Given the description of an element on the screen output the (x, y) to click on. 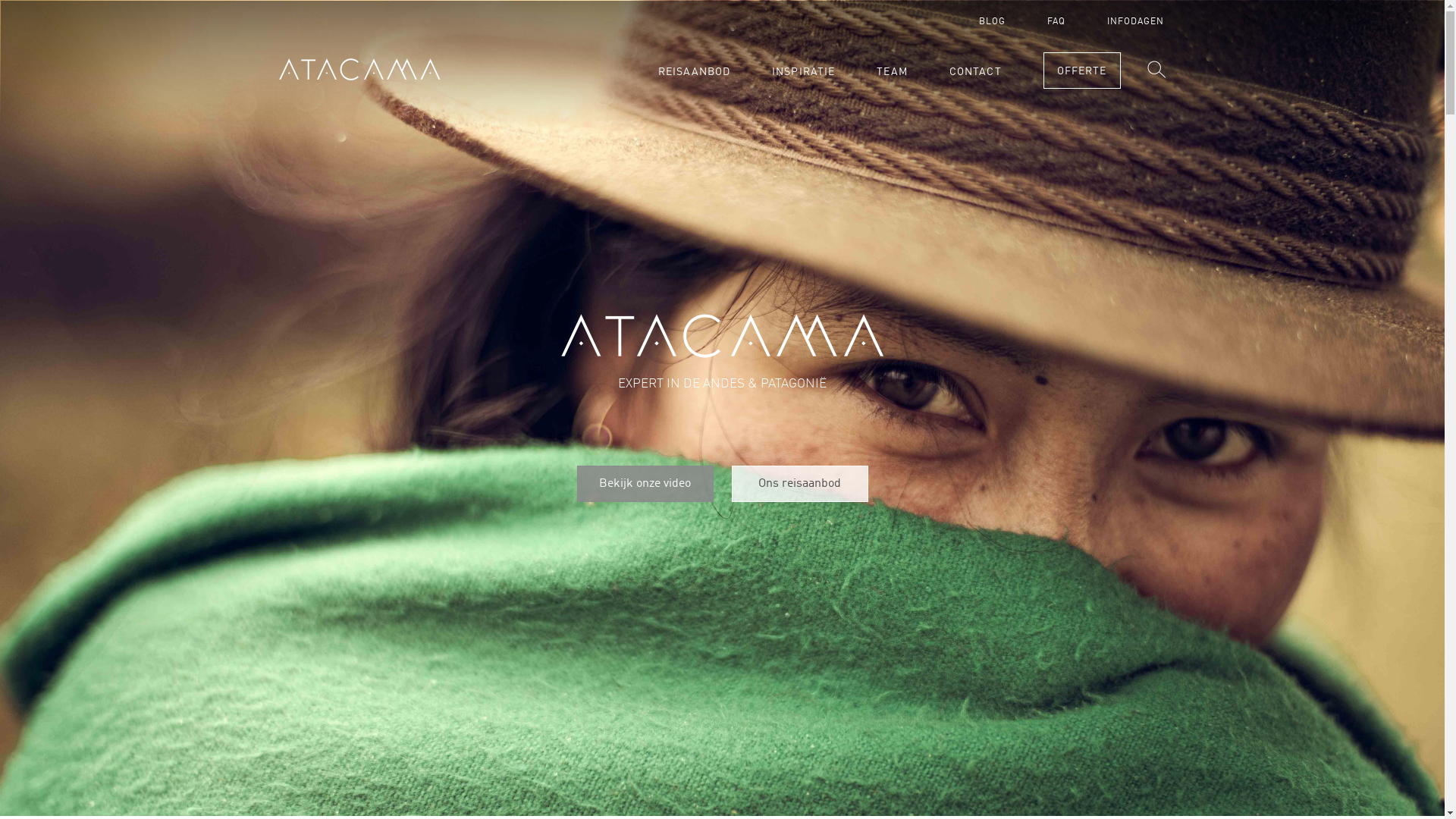
OFFERTE Element type: text (1081, 70)
Ons reisaanbod Element type: text (799, 483)
TEAM Element type: text (891, 71)
REISAANBOD Element type: text (693, 71)
INSPIRATIE Element type: text (803, 71)
CONTACT Element type: text (975, 71)
Bekijk onze video Element type: text (644, 483)
FAQ Element type: text (1055, 21)
INFODAGEN Element type: text (1135, 21)
BLOG Element type: text (991, 21)
